Given the description of an element on the screen output the (x, y) to click on. 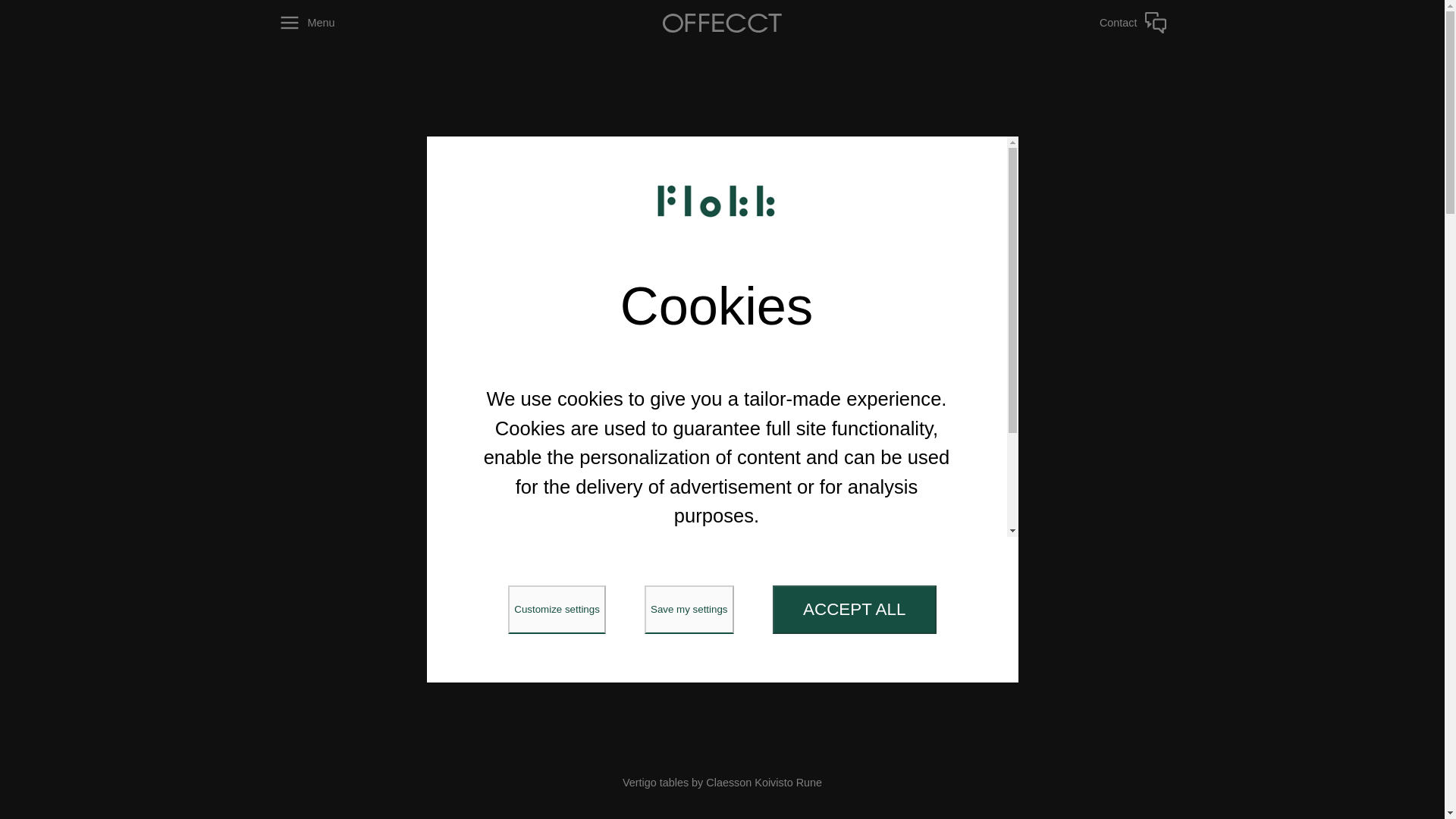
ACCEPT ALL (854, 609)
Main menu (365, 22)
Contact us (1079, 22)
Menu (365, 22)
Read more about our Policies. (716, 602)
Contact (1079, 22)
Customize settings (556, 609)
Save my settings (689, 609)
